Given the description of an element on the screen output the (x, y) to click on. 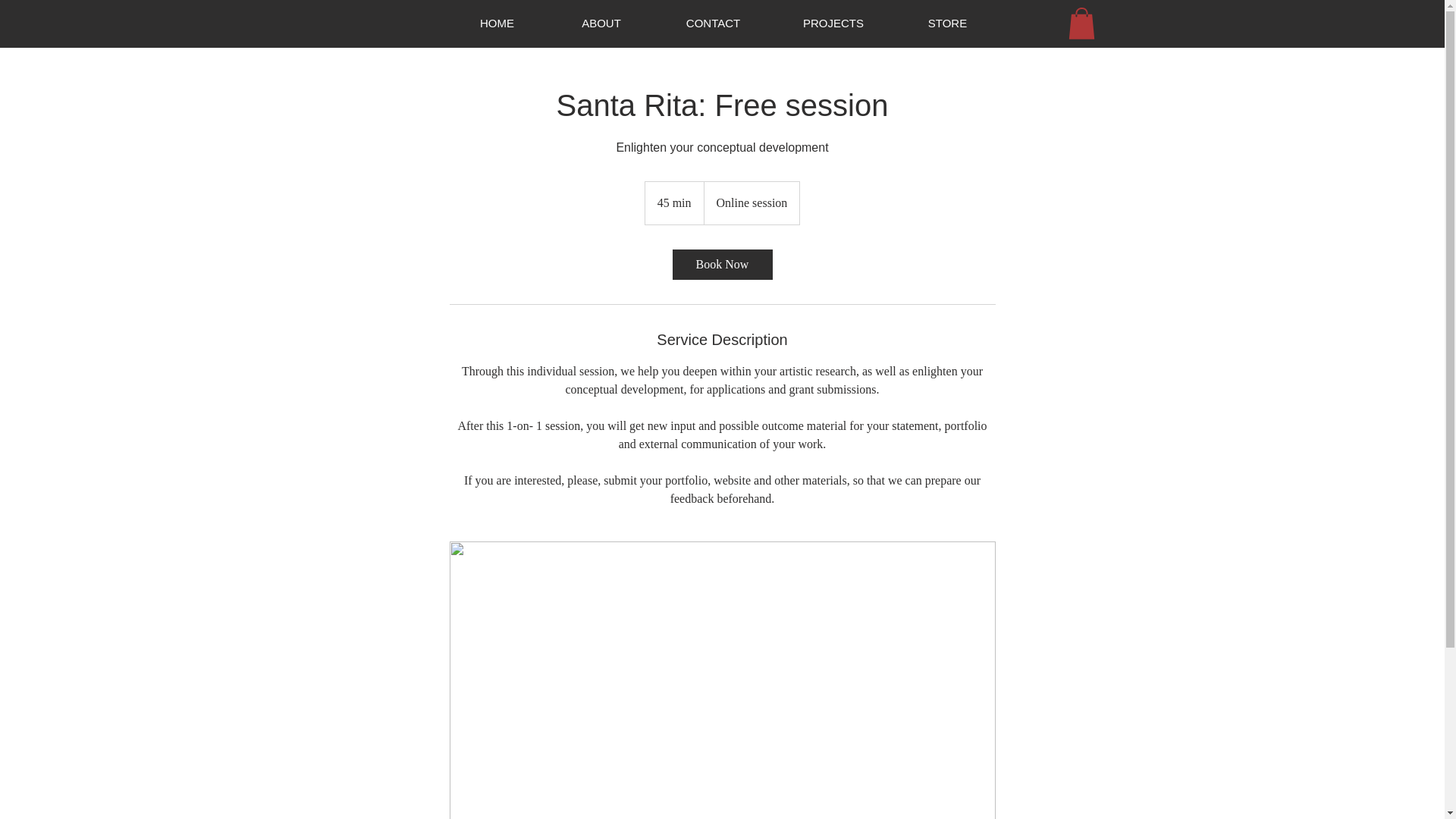
Book Now (721, 264)
HOME (496, 23)
CONTACT (713, 23)
ABOUT (600, 23)
PROJECTS (833, 23)
STORE (946, 23)
